Given the description of an element on the screen output the (x, y) to click on. 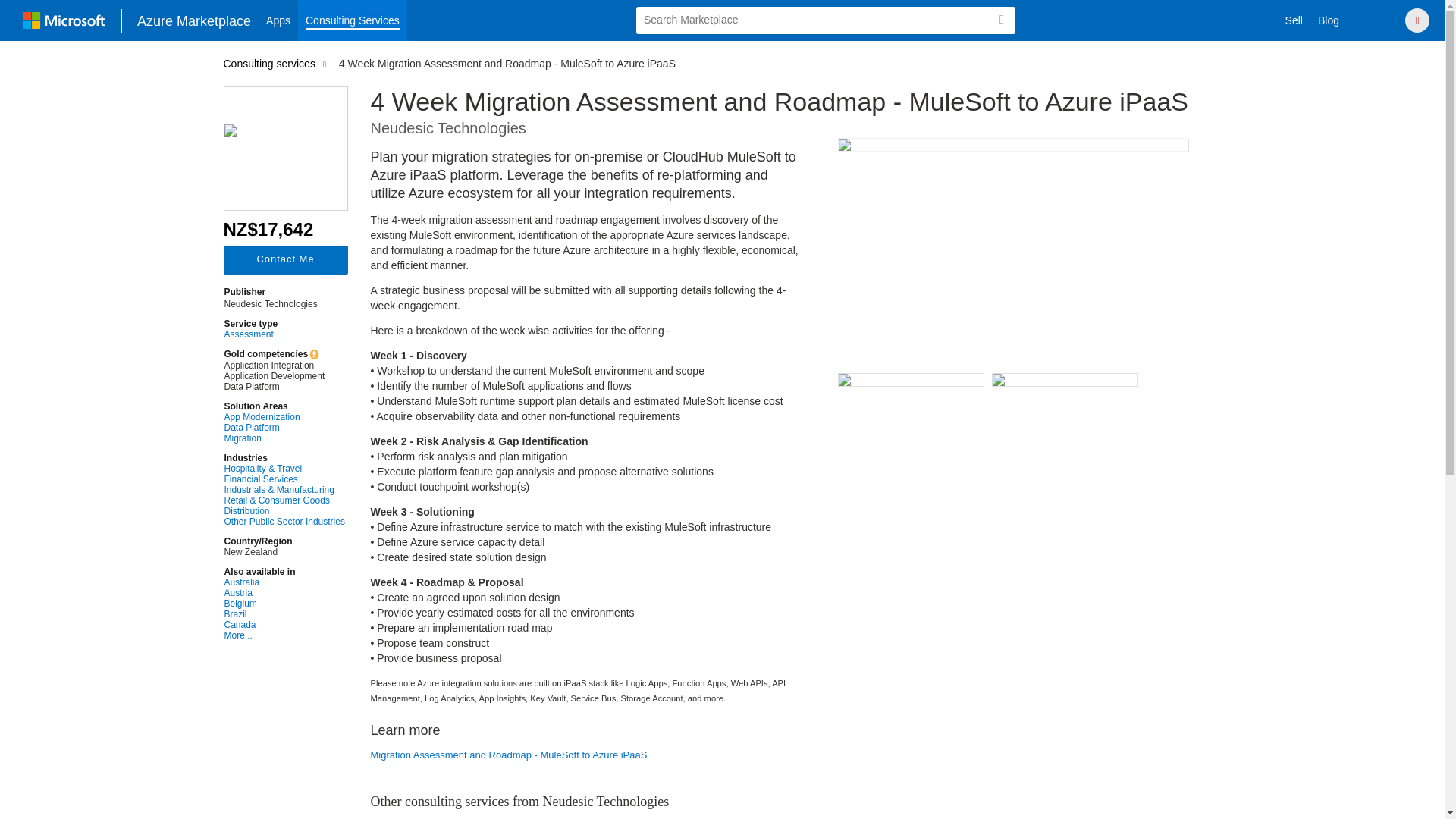
Blog (1328, 20)
Apps (278, 20)
Search  (1001, 19)
Azure Marketplace (194, 20)
Consulting Services (352, 20)
Search (1001, 19)
Feedback (1377, 20)
